Given the description of an element on the screen output the (x, y) to click on. 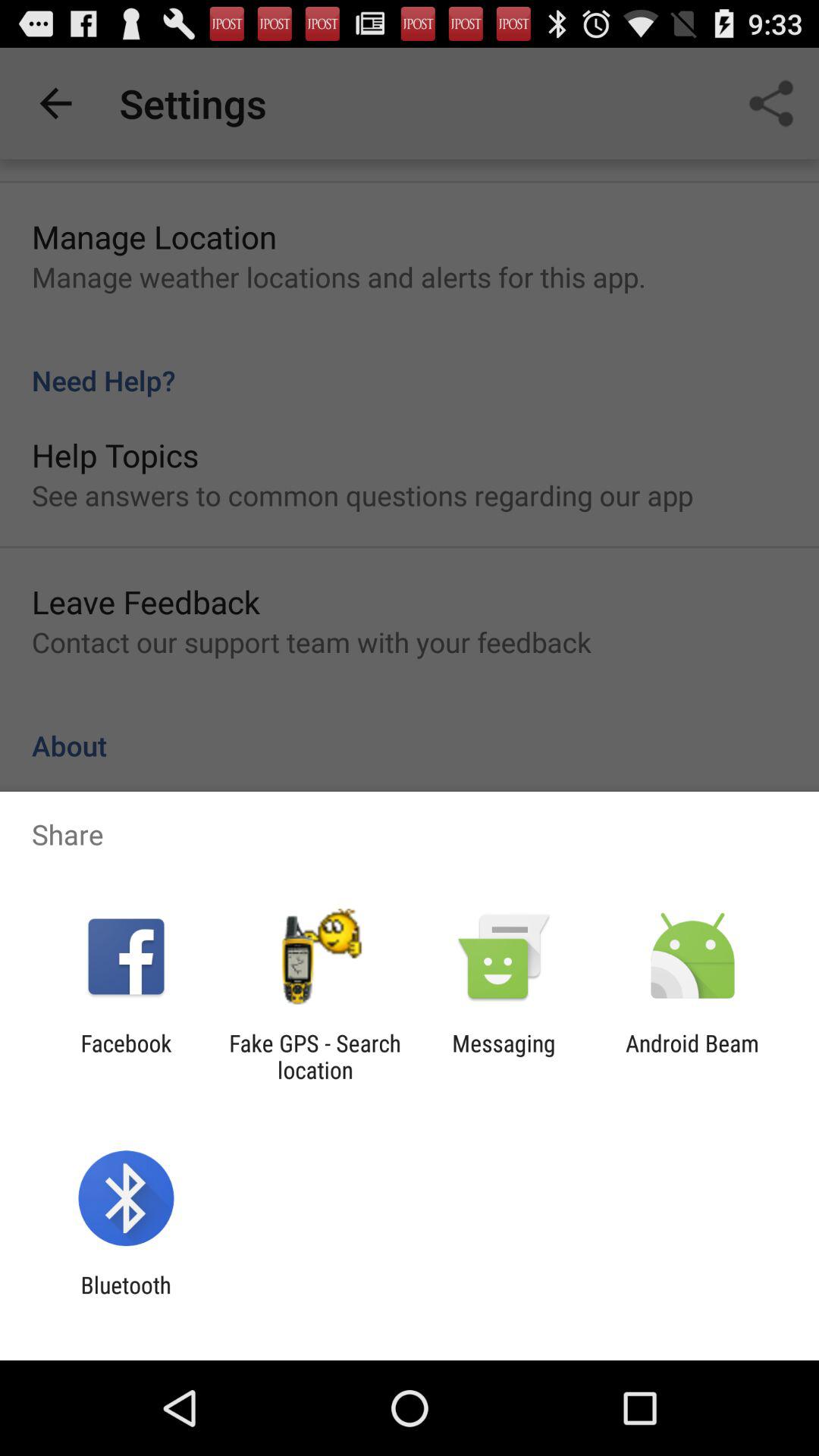
choose item to the left of the android beam item (503, 1056)
